Given the description of an element on the screen output the (x, y) to click on. 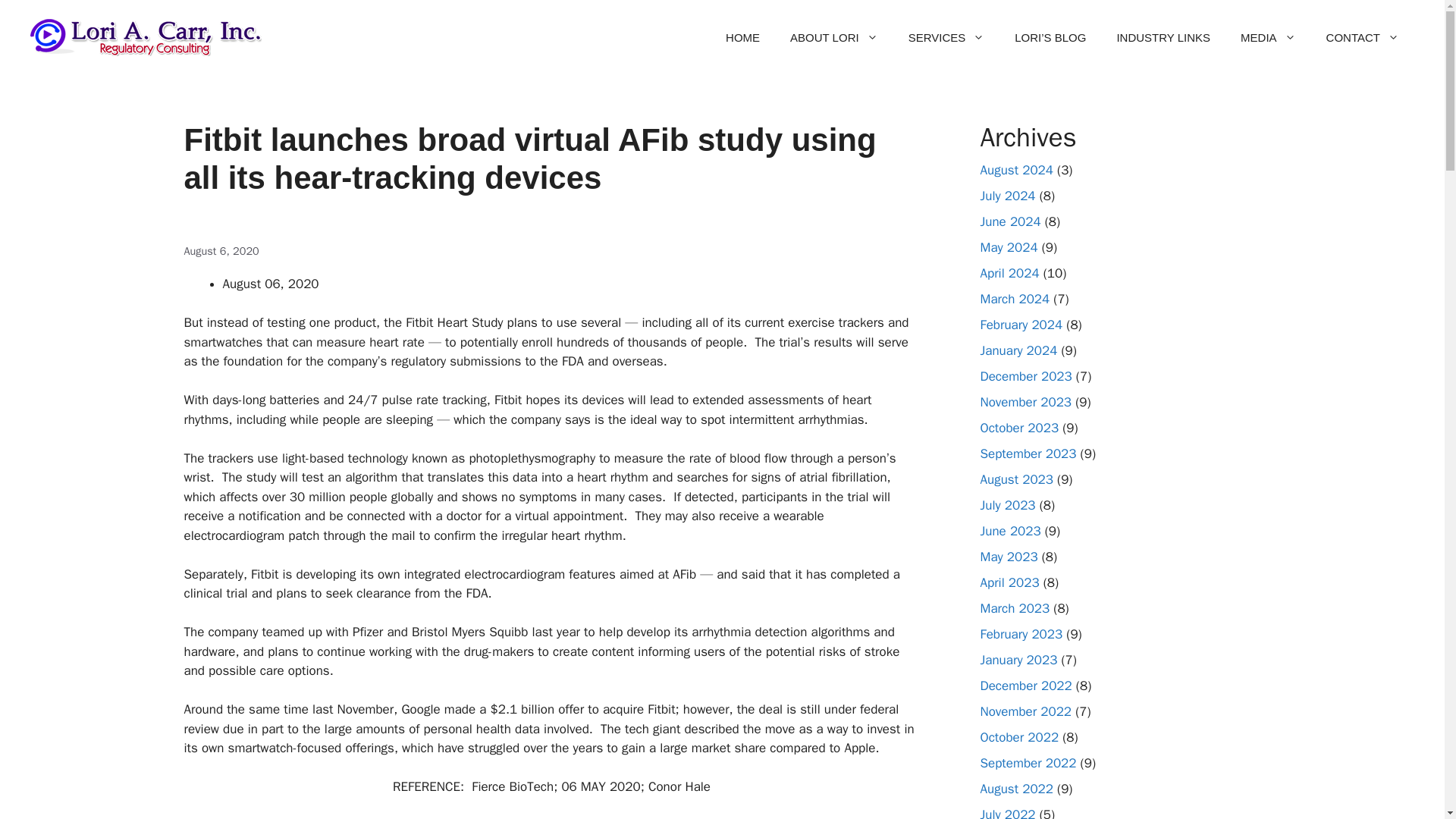
MEDIA (1268, 37)
HOME (742, 37)
SERVICES (946, 37)
ABOUT LORI (833, 37)
INDUSTRY LINKS (1162, 37)
CONTACT (1362, 37)
